Given the description of an element on the screen output the (x, y) to click on. 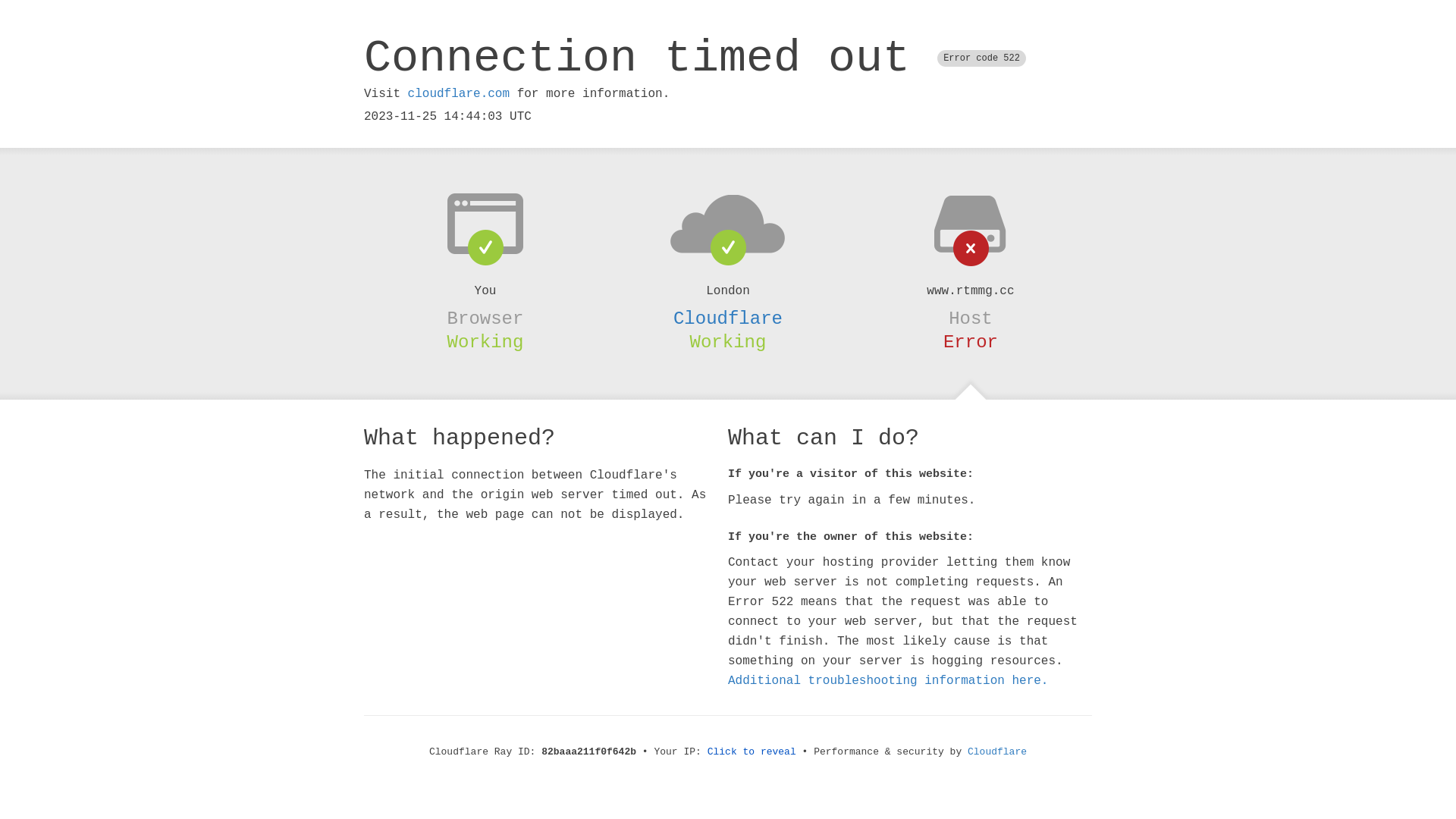
Click to reveal Element type: text (751, 751)
Cloudflare Element type: text (727, 318)
Additional troubleshooting information here. Element type: text (888, 680)
cloudflare.com Element type: text (458, 93)
Cloudflare Element type: text (996, 751)
